Given the description of an element on the screen output the (x, y) to click on. 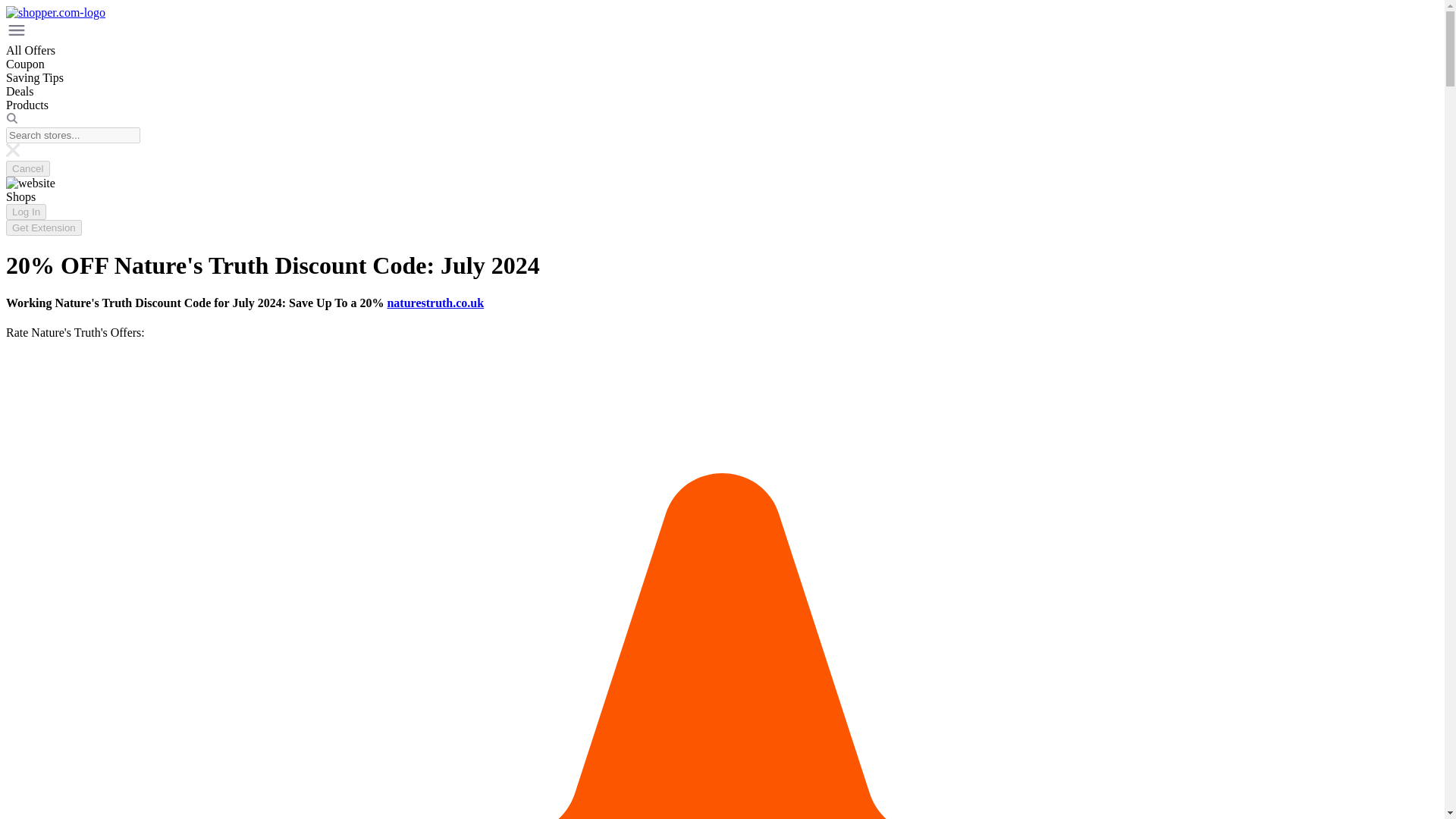
Cancel (27, 168)
naturestruth.co.uk (435, 302)
Log In (25, 211)
Get Extension (43, 227)
